Given the description of an element on the screen output the (x, y) to click on. 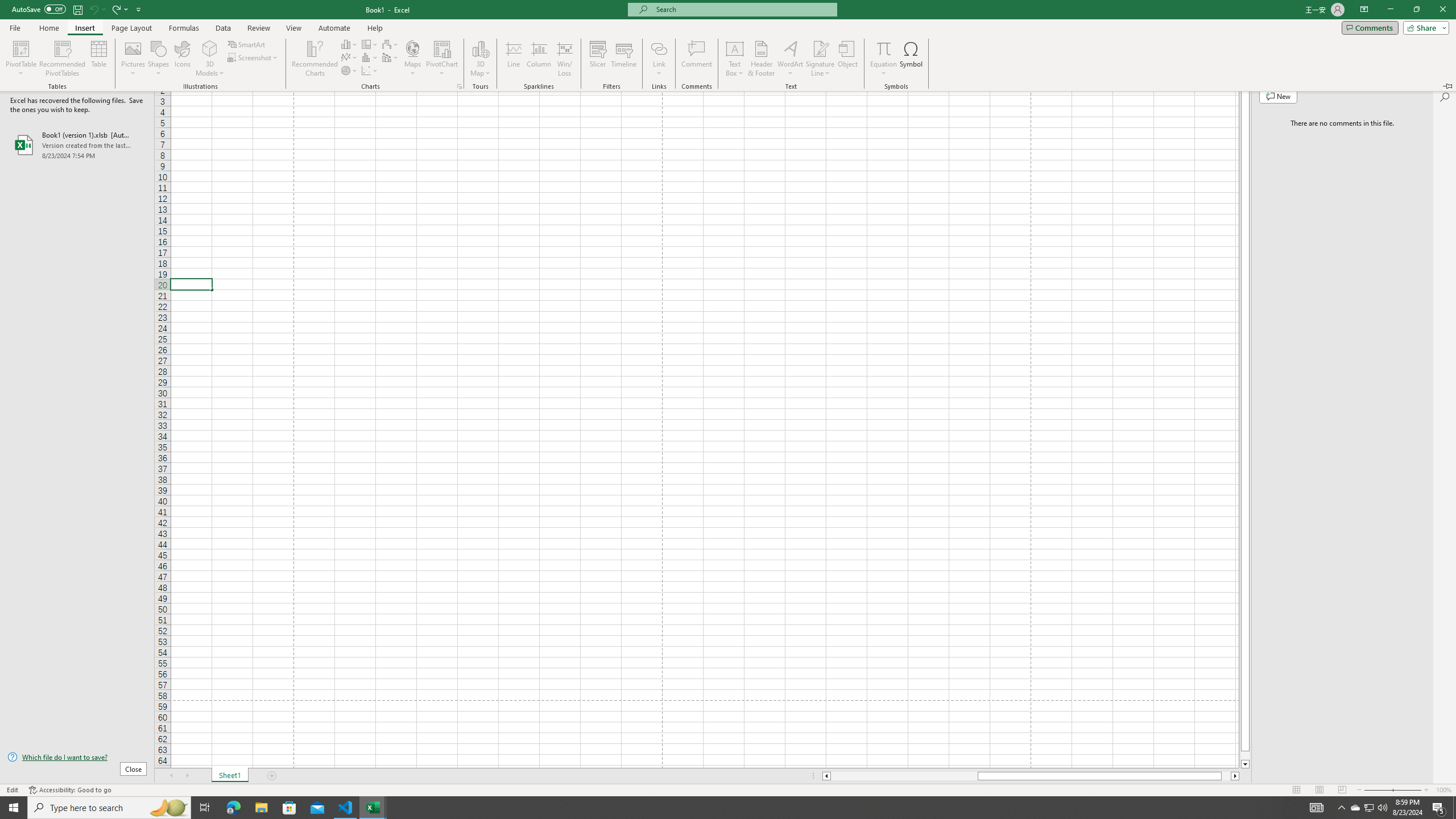
Running applications (717, 807)
Action Center, 5 new notifications (1439, 807)
Notification Chevron (1341, 807)
Search highlights icon opens search home window (167, 807)
File Explorer (261, 807)
Q2790: 100% (1382, 807)
